Given the description of an element on the screen output the (x, y) to click on. 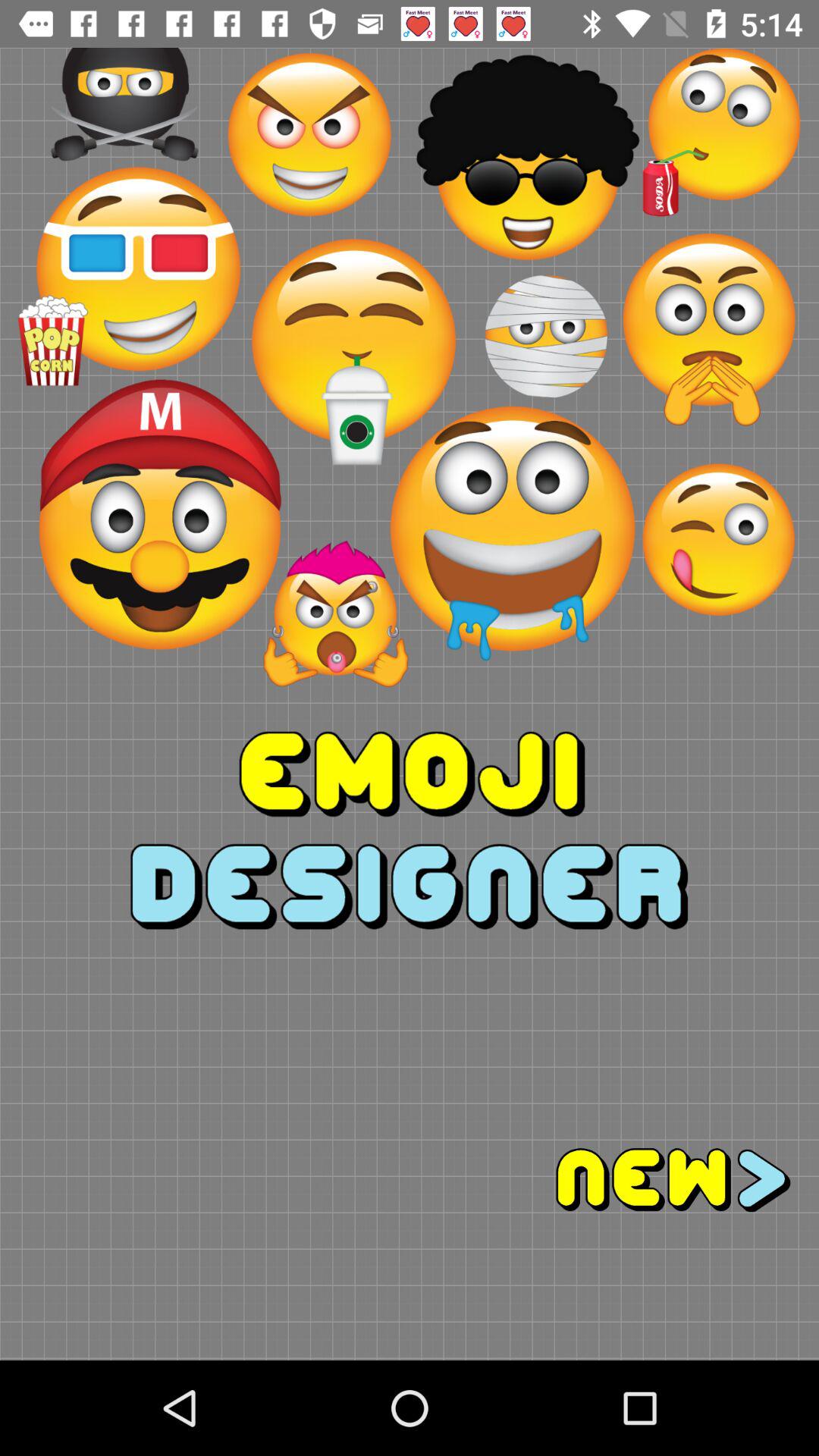
go next (614, 1180)
